Given the description of an element on the screen output the (x, y) to click on. 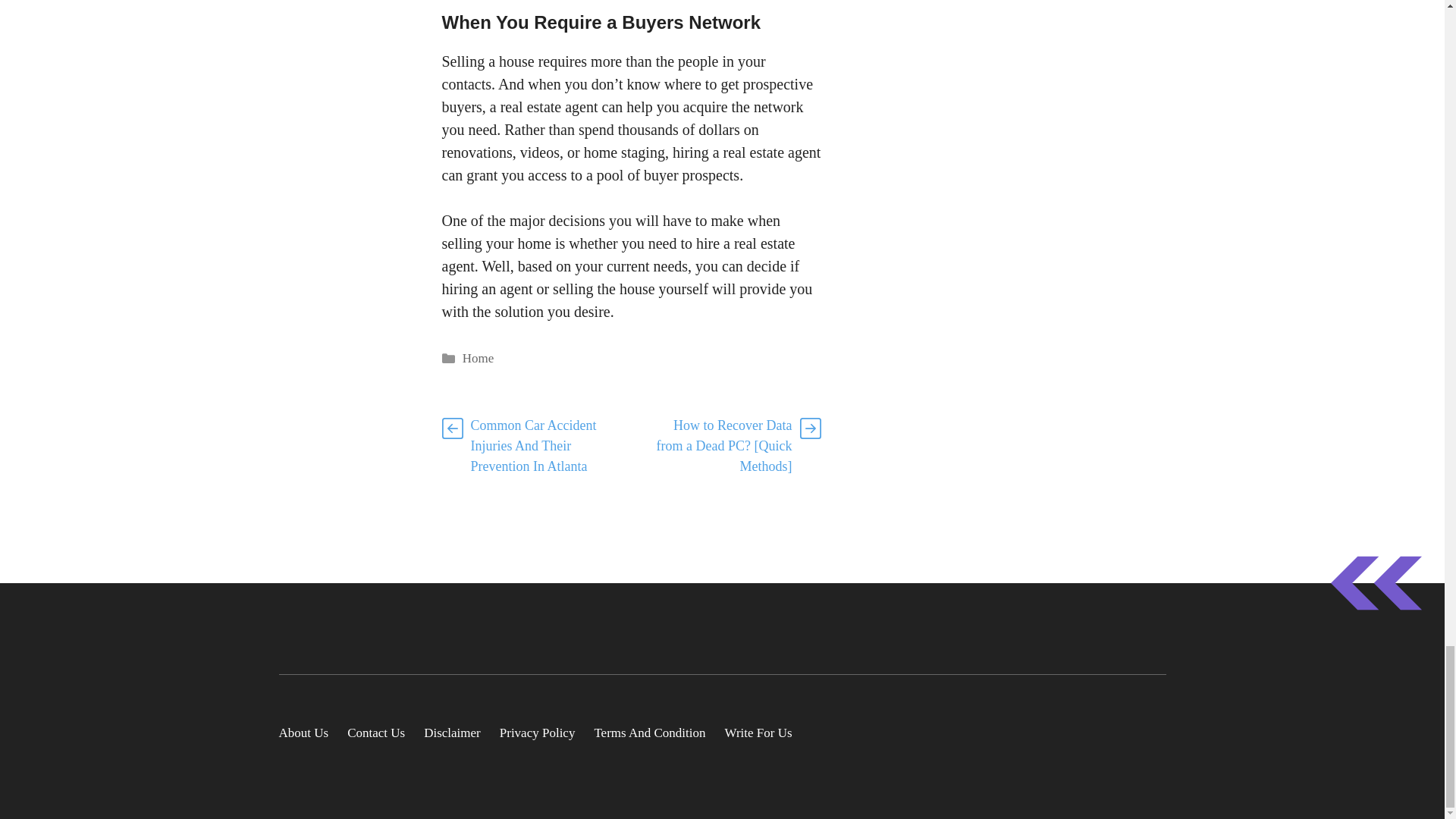
Home (479, 358)
Common Car Accident Injuries And Their Prevention In Atlanta (532, 445)
